Given the description of an element on the screen output the (x, y) to click on. 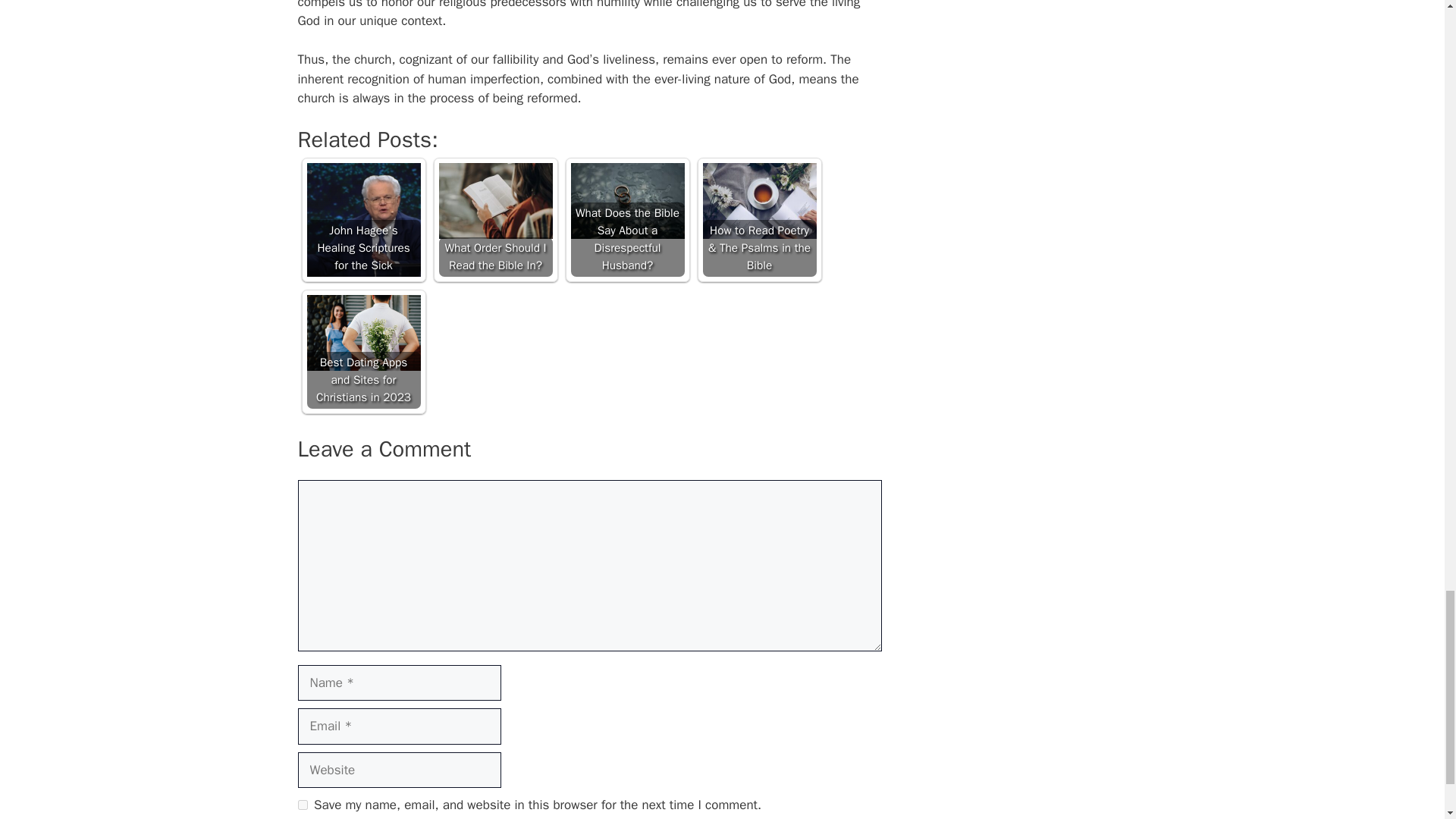
What Does the Bible Say About a Disrespectful Husband? (627, 200)
What Does the Bible Say About a Disrespectful Husband? (627, 219)
Best Dating Apps and Sites for Christians in 2023 (362, 351)
yes (302, 804)
What Order Should I Read the Bible In? (494, 200)
What Order Should I Read the Bible In? (494, 219)
John Hagee's Healing Scriptures for the Sick (362, 219)
Best Dating Apps and Sites for Christians in 2023 (362, 332)
John Hagee's Healing Scriptures for the Sick (362, 219)
